Given the description of an element on the screen output the (x, y) to click on. 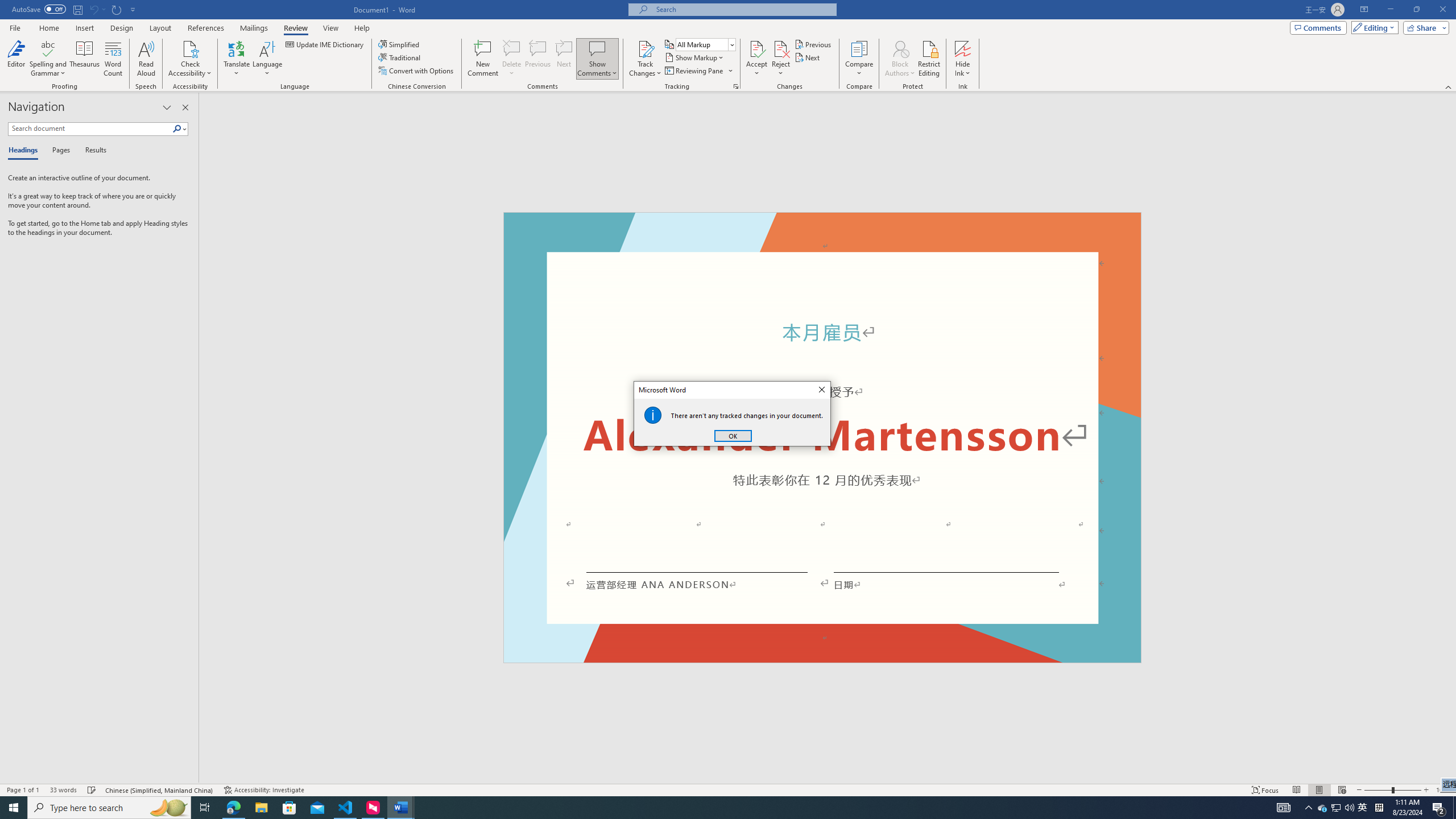
Notification Chevron (1308, 807)
Traditional (400, 56)
New Comment (482, 58)
Pages (59, 150)
Delete (511, 58)
